Given the description of an element on the screen output the (x, y) to click on. 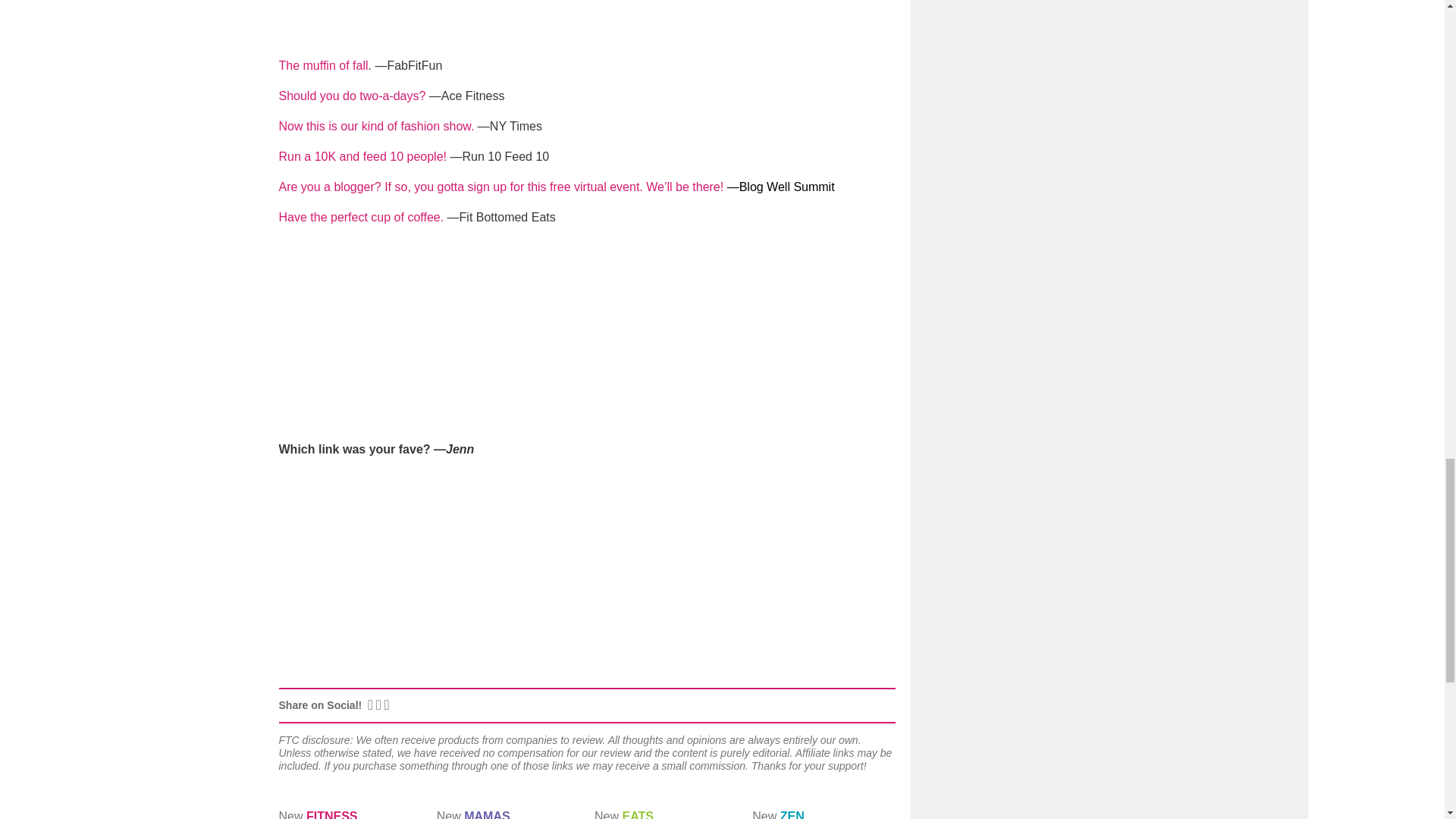
perfect cup of coffee (362, 216)
blog well summit (501, 186)
two-a-day workouts (352, 95)
fit fashion models (376, 125)
pumpkin cranberry muffins (323, 65)
run 10 feed 10 (362, 155)
